Given the description of an element on the screen output the (x, y) to click on. 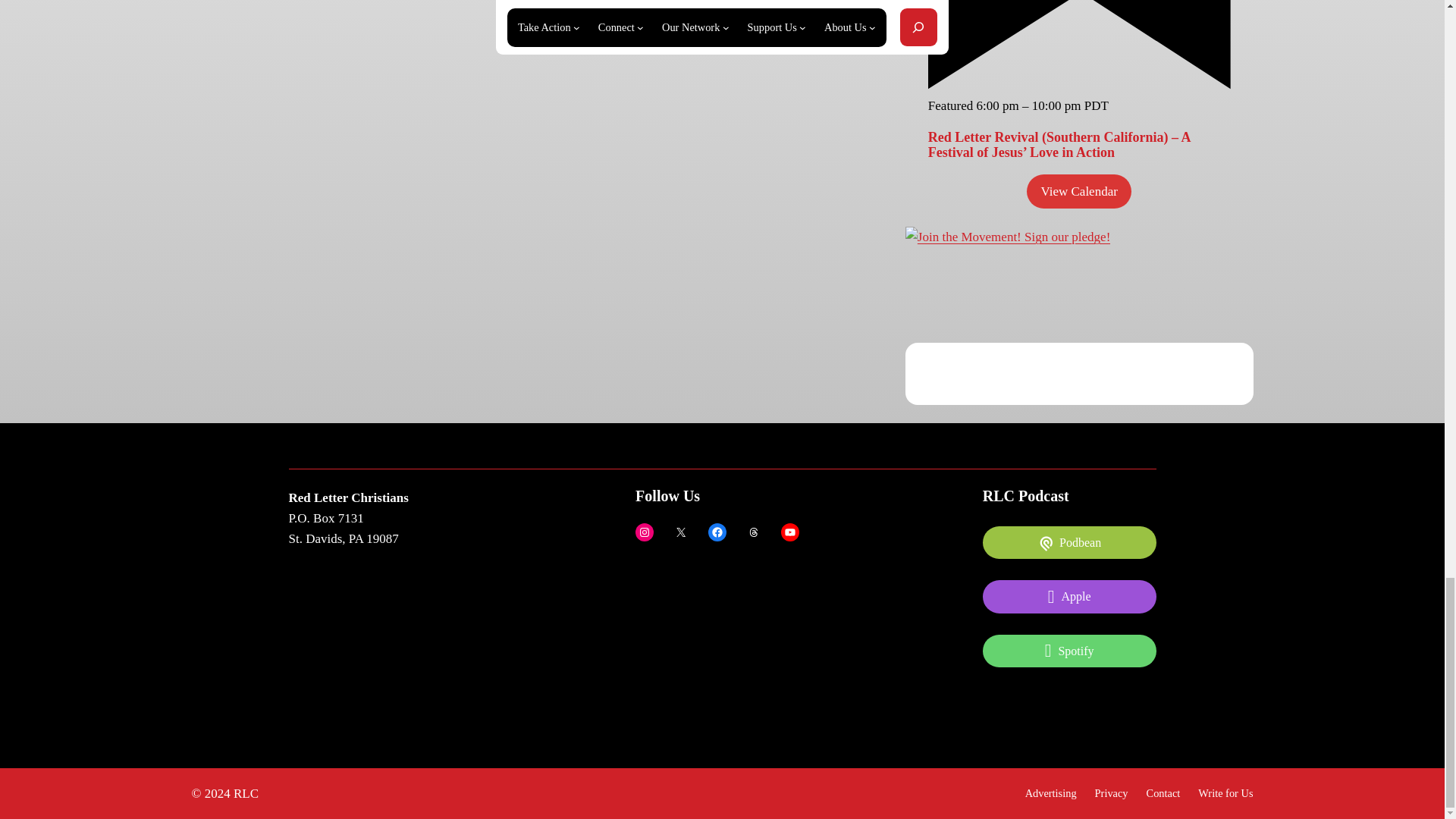
Featured (1079, 84)
Featured (1079, 44)
View more events. (1078, 191)
